Given the description of an element on the screen output the (x, y) to click on. 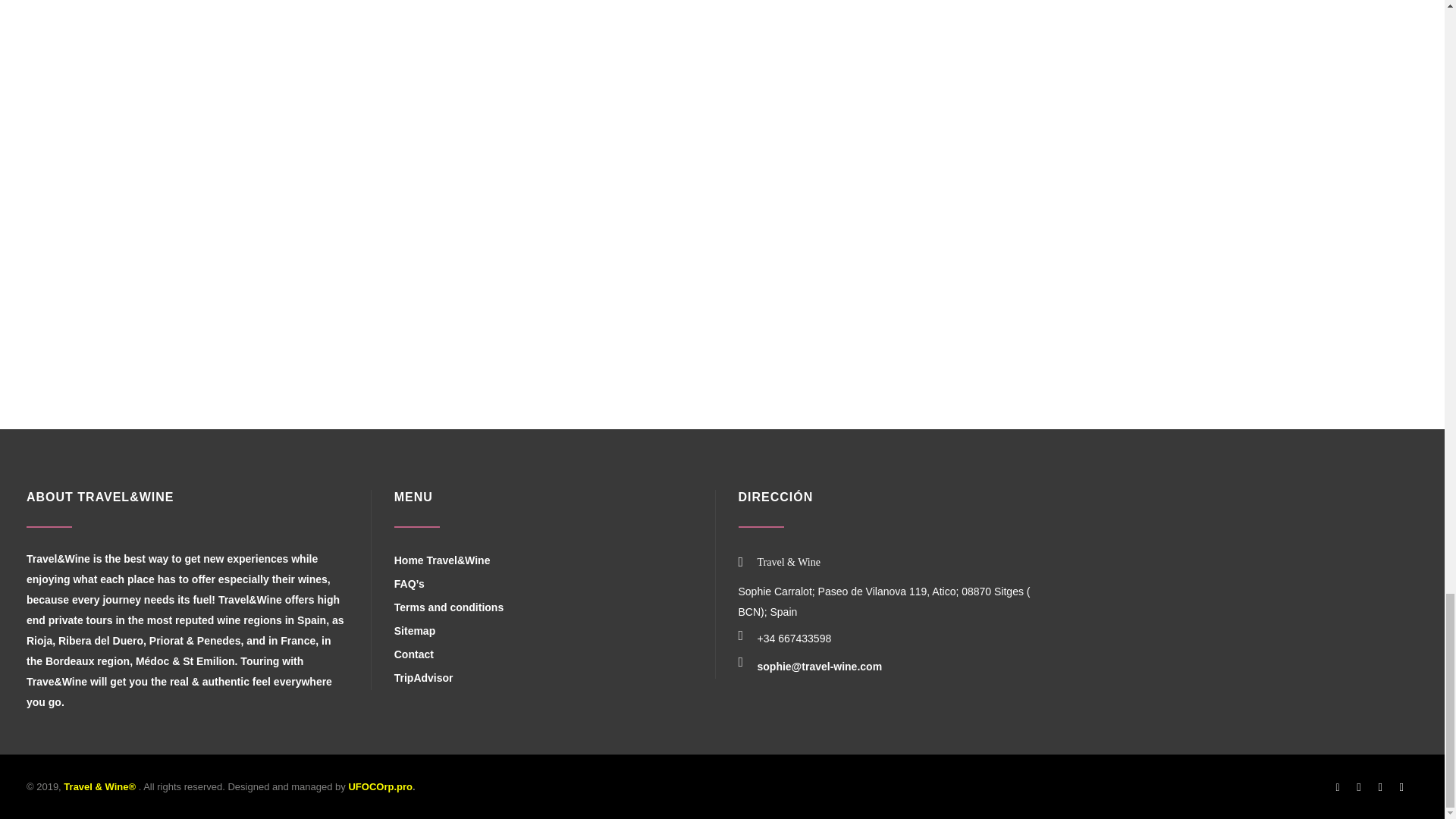
UFOCOrp.pro (379, 786)
Contact (413, 654)
Sitemap (414, 630)
TripAdvisor (423, 678)
Go to Roldy.online (379, 786)
Terms and conditions (448, 607)
